Given the description of an element on the screen output the (x, y) to click on. 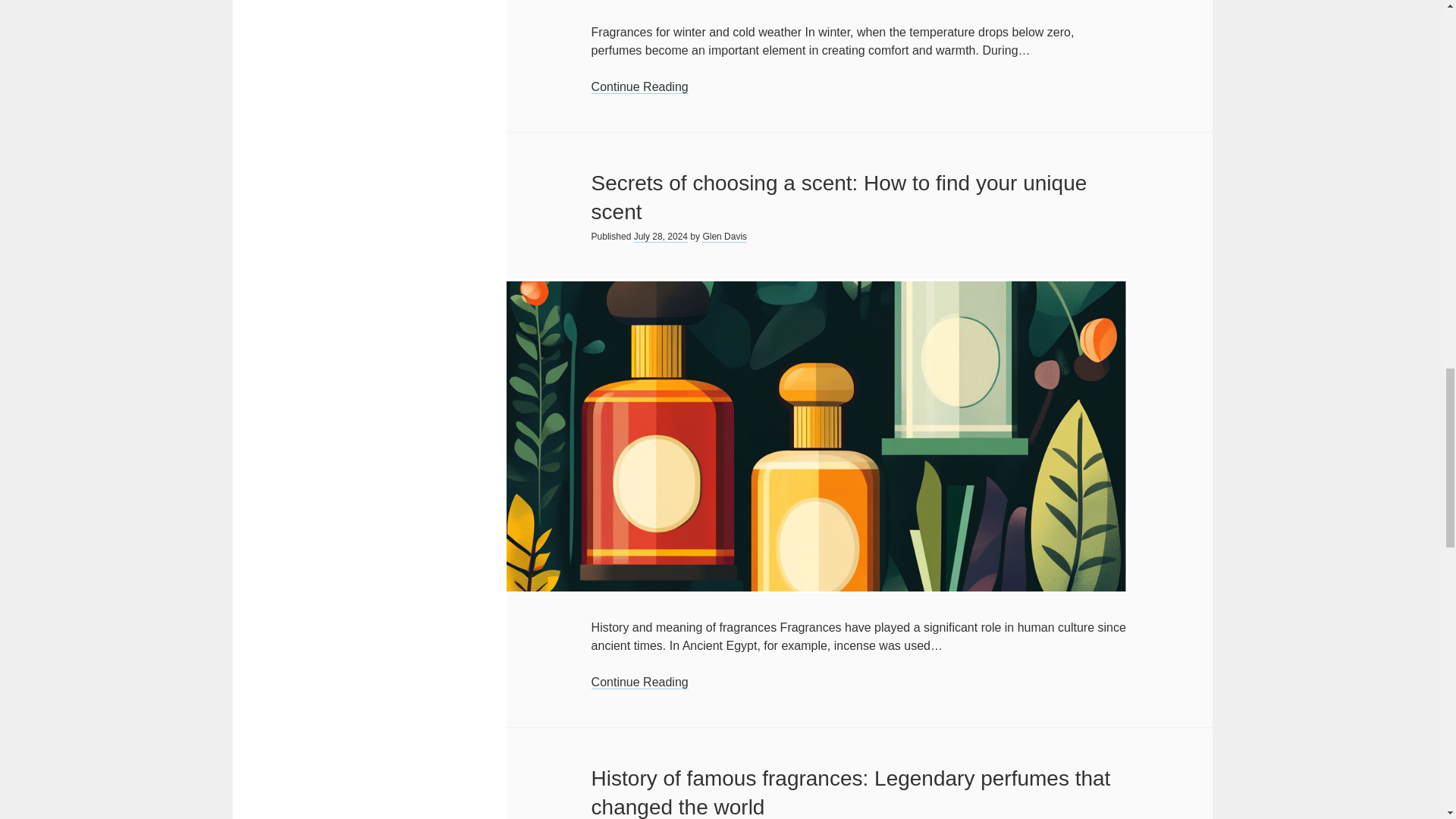
Glen Davis (723, 236)
Secrets of choosing a scent: How to find your unique scent (839, 197)
July 28, 2024 (660, 236)
